Given the description of an element on the screen output the (x, y) to click on. 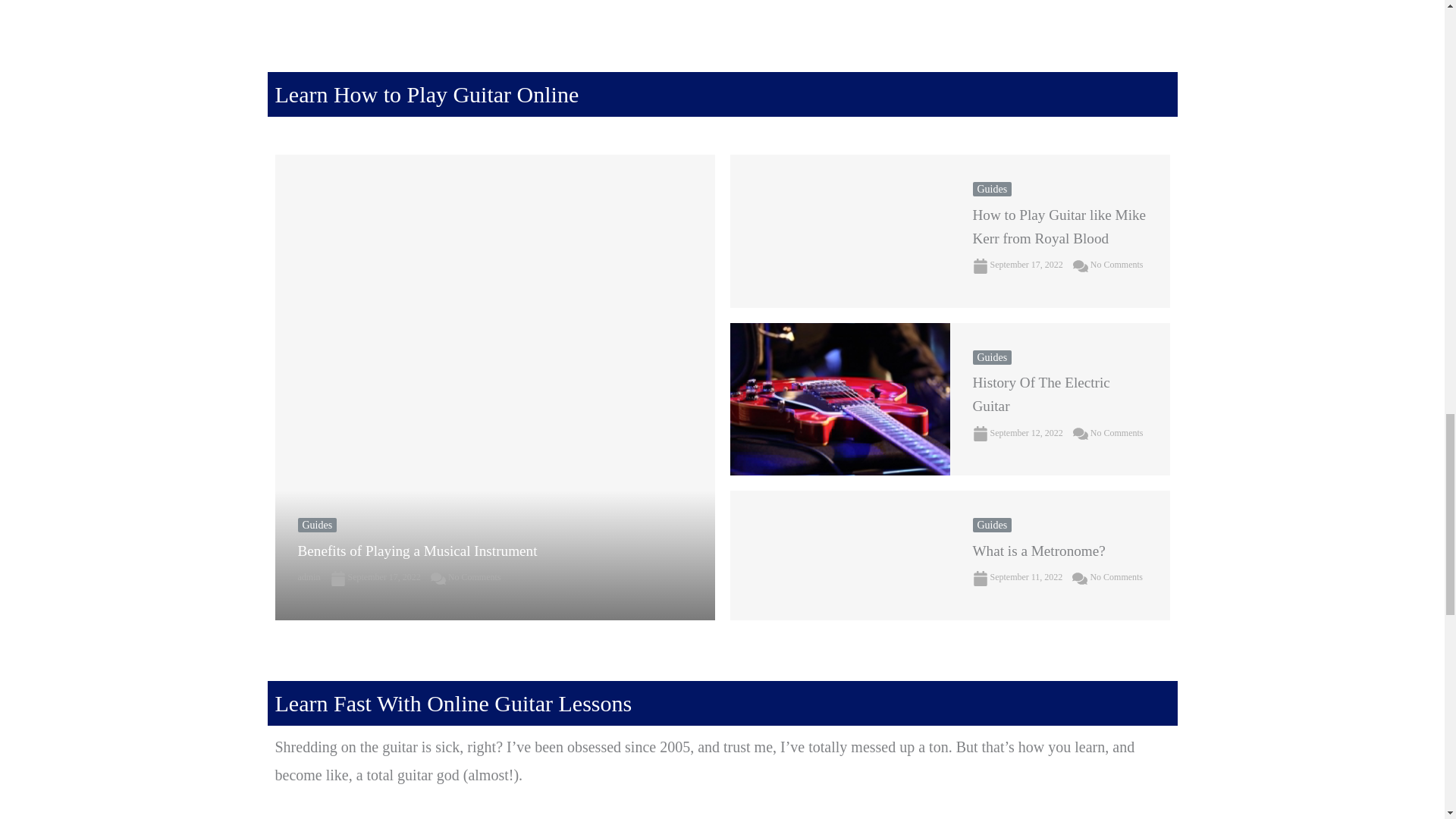
Posts by admin (308, 576)
Guides (991, 188)
admin (308, 576)
History Of The Electric Guitar (839, 398)
Benefits of Playing a Musical Instrument (417, 550)
Guides (316, 524)
How to Play Guitar like Mike Kerr from Royal Blood (839, 230)
What is a Metronome? (839, 554)
